Given the description of an element on the screen output the (x, y) to click on. 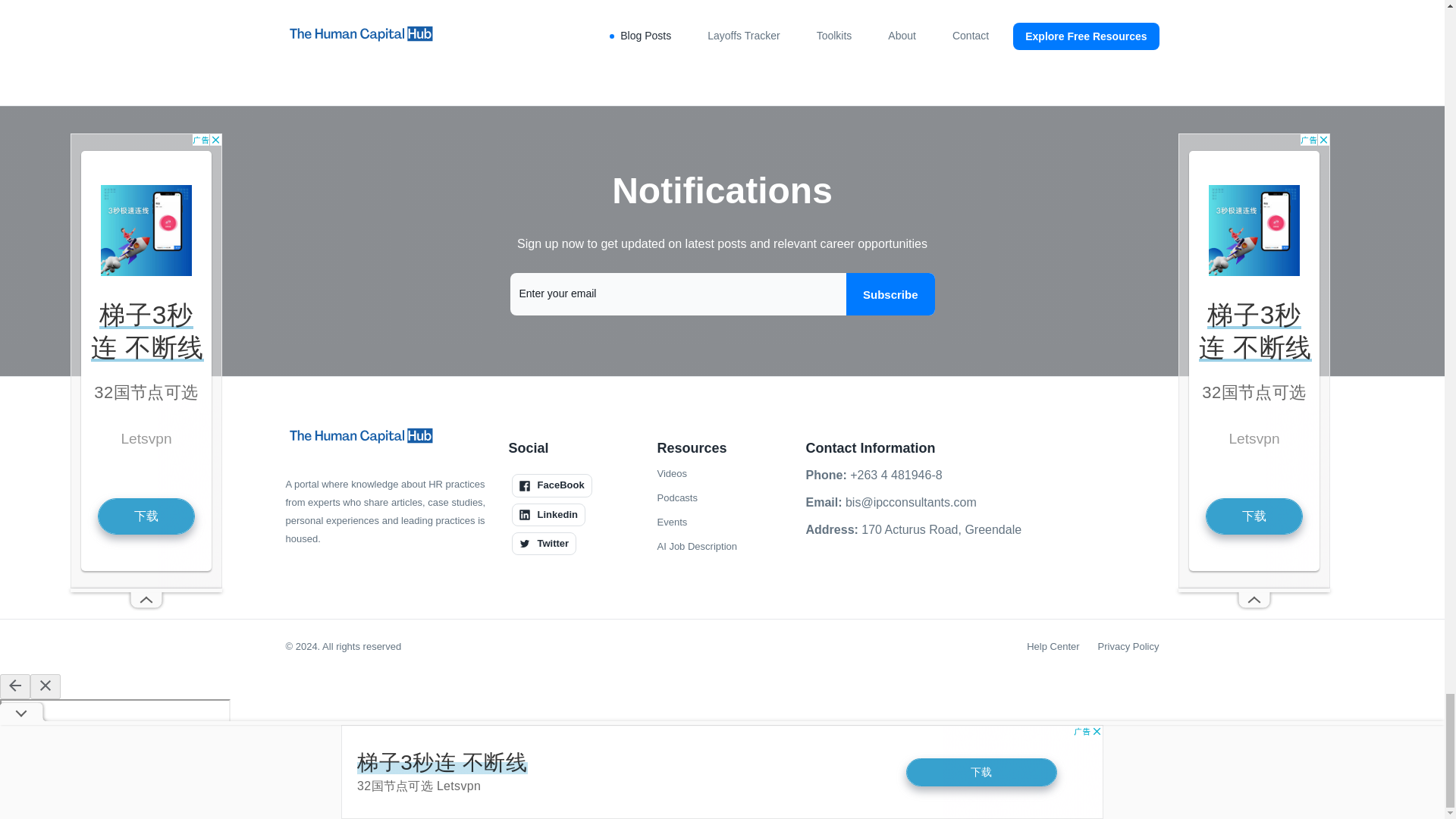
Twitter (543, 543)
AI Job Description (696, 546)
Podcasts (676, 497)
FaceBook (551, 485)
Events (671, 522)
Linkedin (548, 514)
Videos (671, 474)
Subscribe (889, 293)
Privacy Policy (1127, 647)
Help Center (1052, 647)
